Given the description of an element on the screen output the (x, y) to click on. 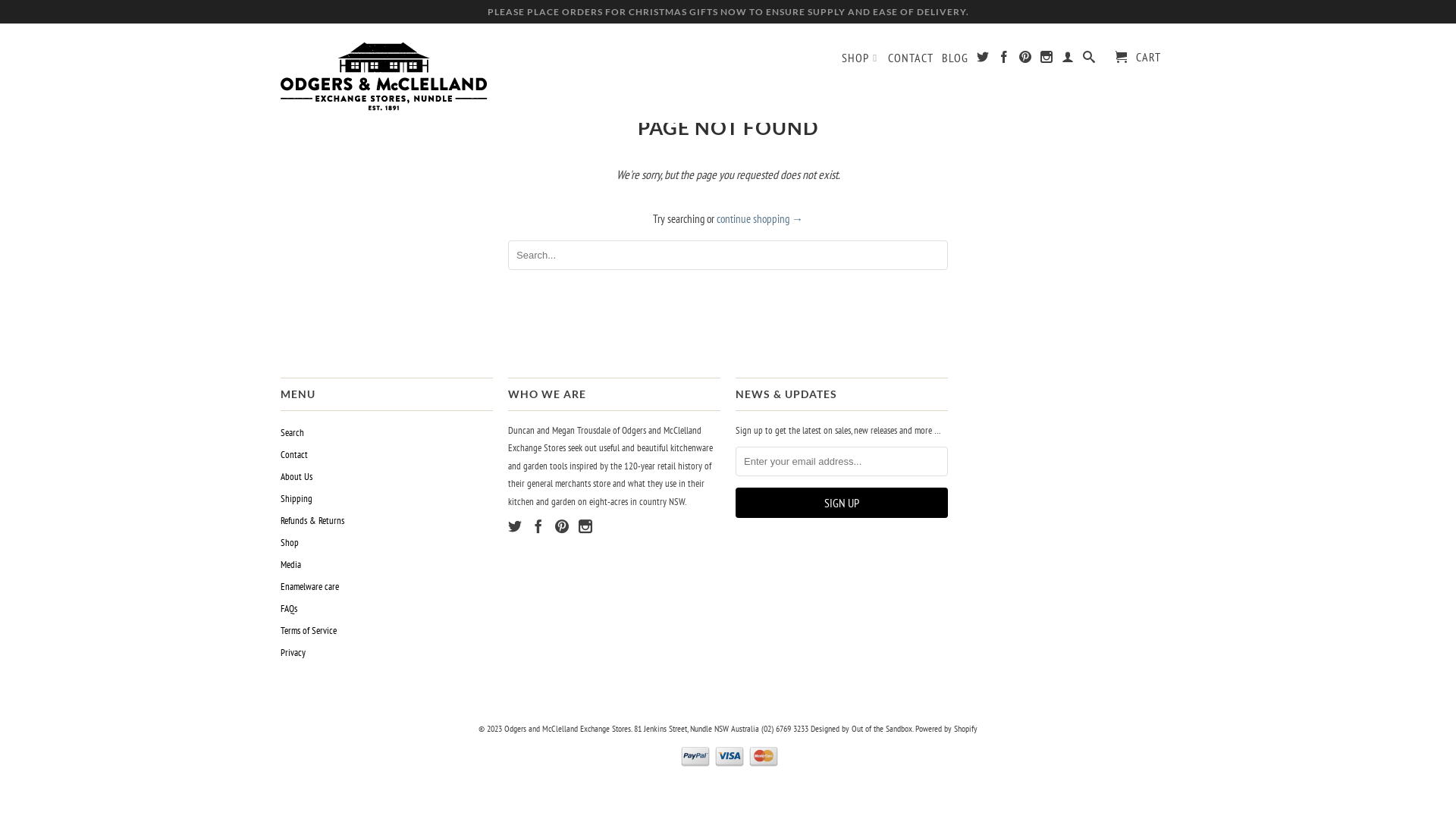
Odgers and McClelland Exchange Stores on Instagram Element type: hover (1046, 59)
FAQs Element type: text (288, 608)
Powered by Shopify Element type: text (946, 728)
CONTACT Element type: text (910, 60)
My Account  Element type: hover (1067, 59)
Odgers and McClelland Exchange Stores on Pinterest Element type: hover (561, 526)
Odgers and McClelland Exchange Stores on Pinterest Element type: hover (1025, 59)
Odgers and McClelland Exchange Stores Element type: hover (386, 72)
Odgers and McClelland Exchange Stores on Facebook Element type: hover (1003, 59)
Odgers and McClelland Exchange Stores on Twitter Element type: hover (514, 526)
Privacy Element type: text (292, 652)
Out of the Sandbox Element type: text (881, 728)
Search Element type: hover (1088, 59)
Shop Element type: text (289, 542)
Odgers and McClelland Exchange Stores on Twitter Element type: hover (982, 59)
CART Element type: text (1138, 56)
Contact Element type: text (293, 454)
Enamelware care Element type: text (309, 586)
Odgers and McClelland Exchange Stores on Facebook Element type: hover (538, 526)
Odgers and McClelland Exchange Stores on Instagram Element type: hover (585, 526)
Search Element type: text (292, 432)
BLOG Element type: text (954, 60)
Shipping Element type: text (296, 498)
Terms of Service Element type: text (308, 630)
About Us Element type: text (296, 476)
Media Element type: text (290, 564)
Sign Up Element type: text (841, 502)
Refunds & Returns Element type: text (312, 520)
